Given the description of an element on the screen output the (x, y) to click on. 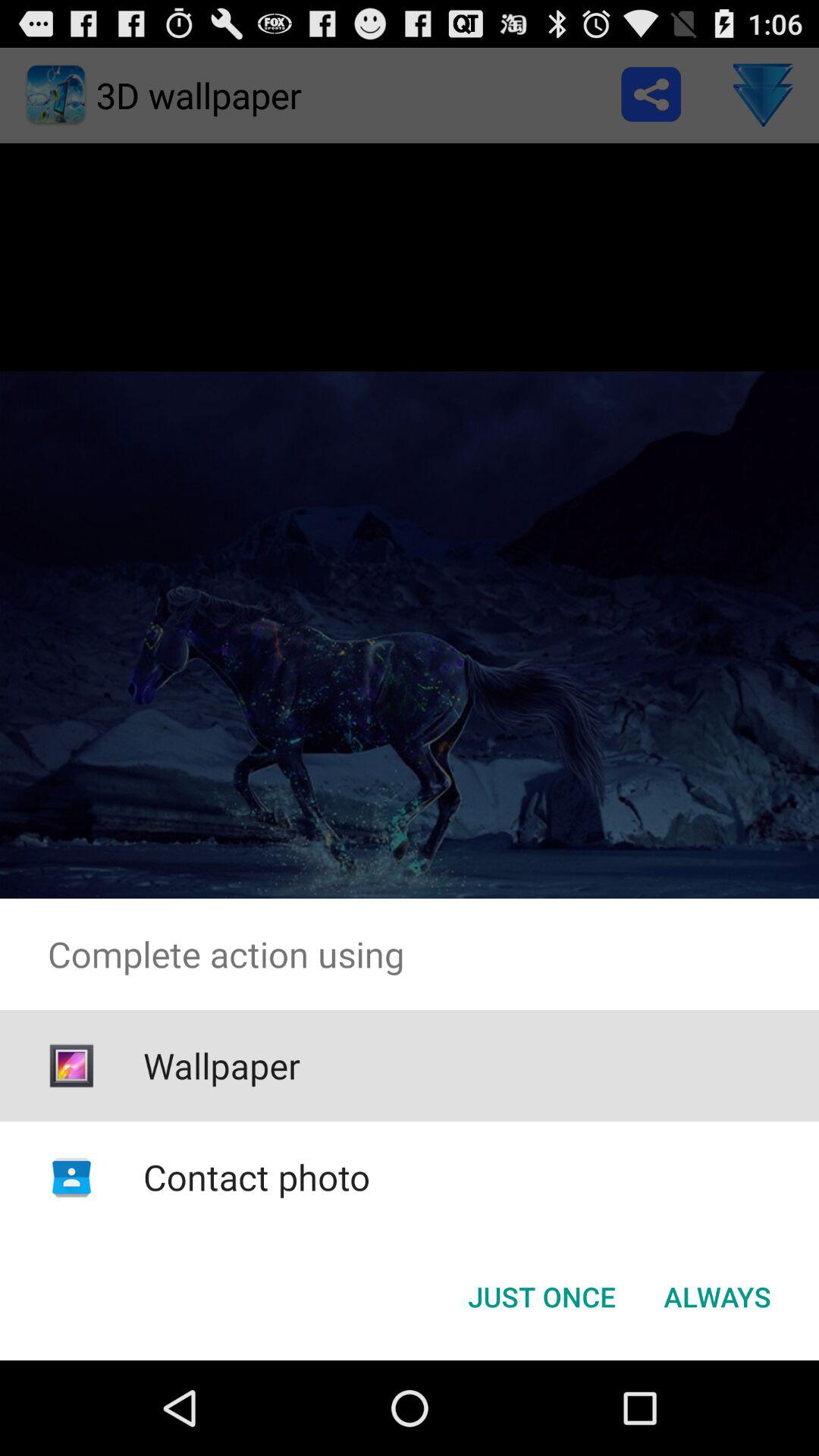
turn off always button (717, 1296)
